Given the description of an element on the screen output the (x, y) to click on. 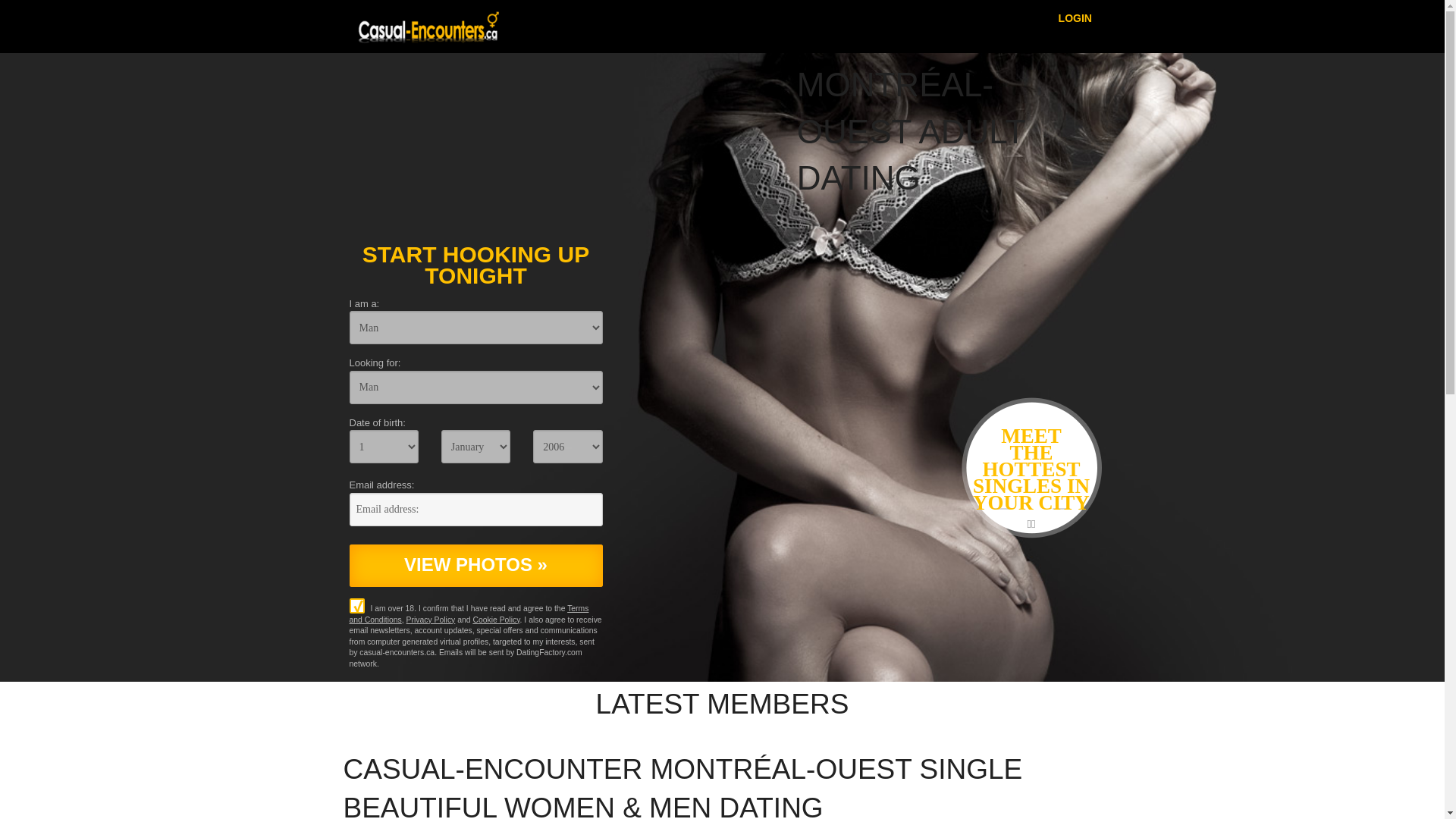
Privacy Policy (430, 619)
Cookie Policy (495, 619)
Terms and Conditions (468, 614)
LOGIN (1074, 17)
